Given the description of an element on the screen output the (x, y) to click on. 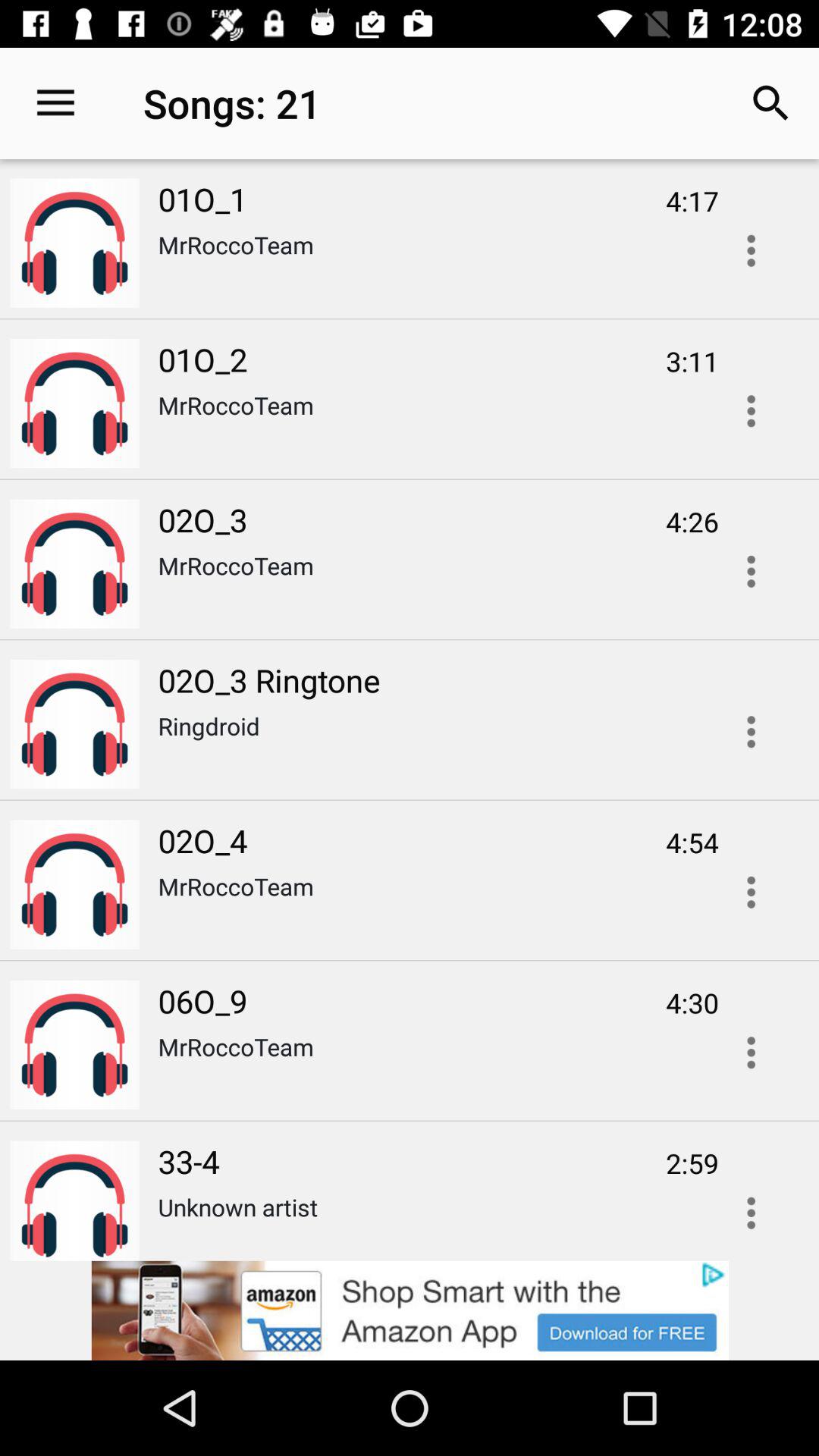
open options (750, 250)
